Given the description of an element on the screen output the (x, y) to click on. 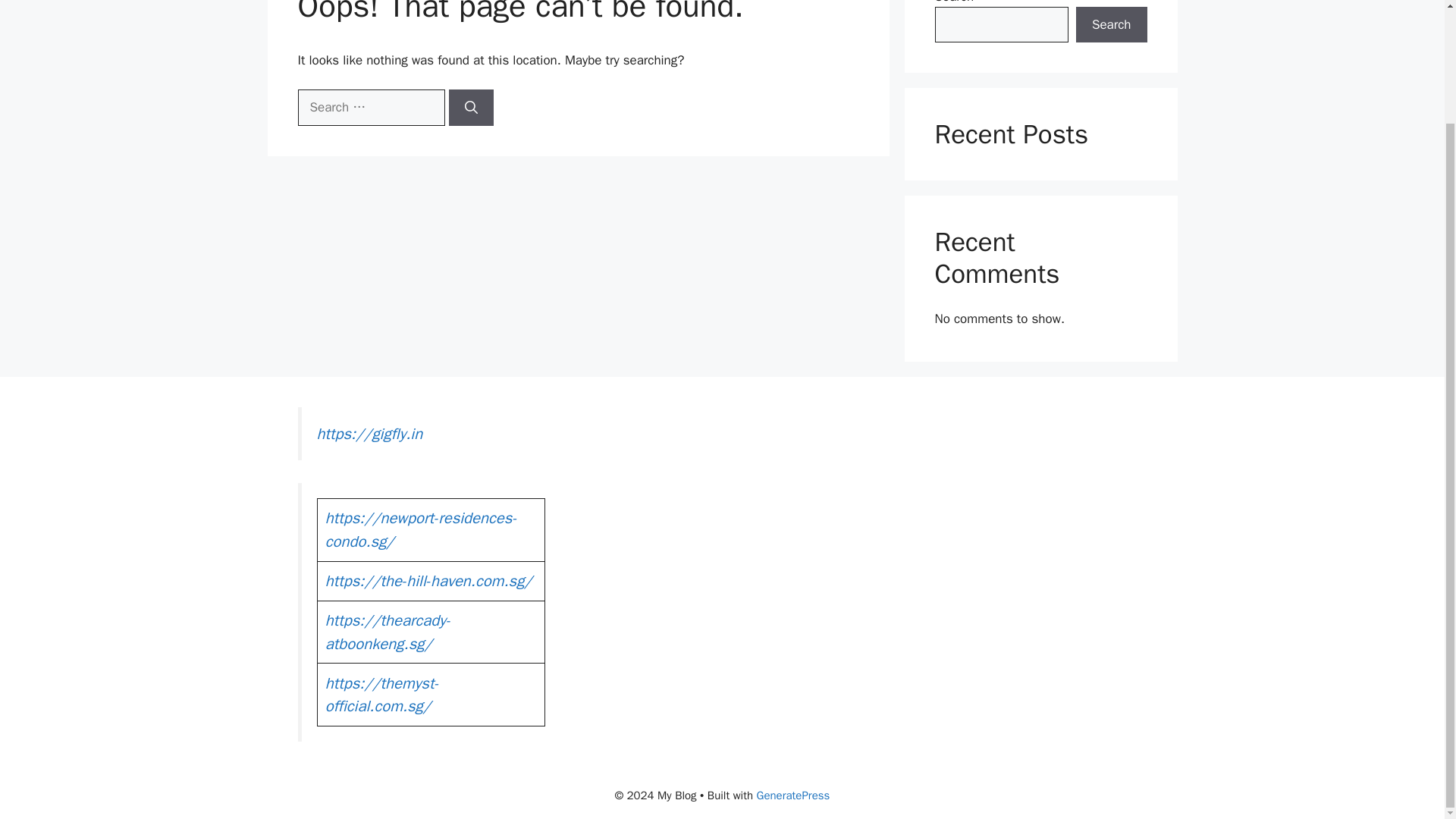
GeneratePress (793, 795)
Search for: (370, 107)
Search (1111, 24)
